Given the description of an element on the screen output the (x, y) to click on. 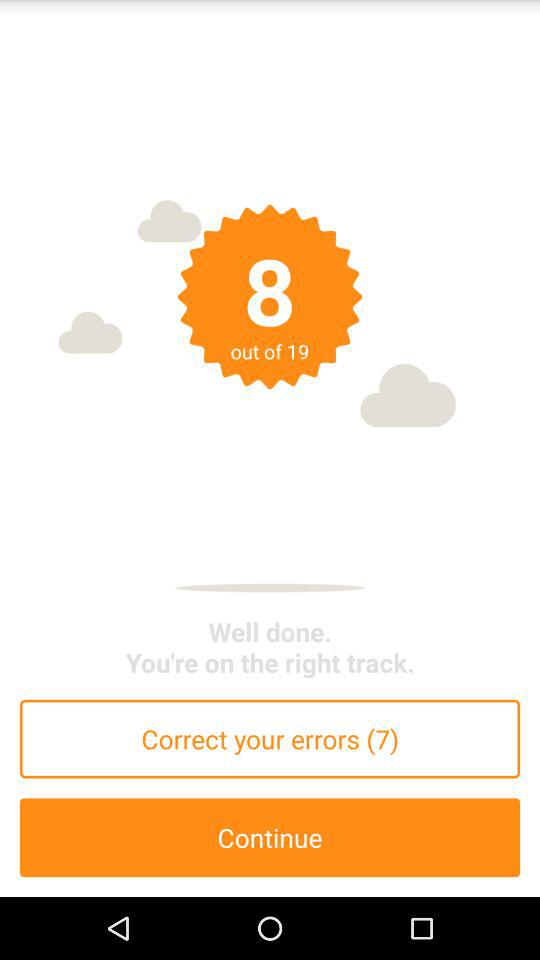
scroll to correct your errors icon (269, 738)
